Given the description of an element on the screen output the (x, y) to click on. 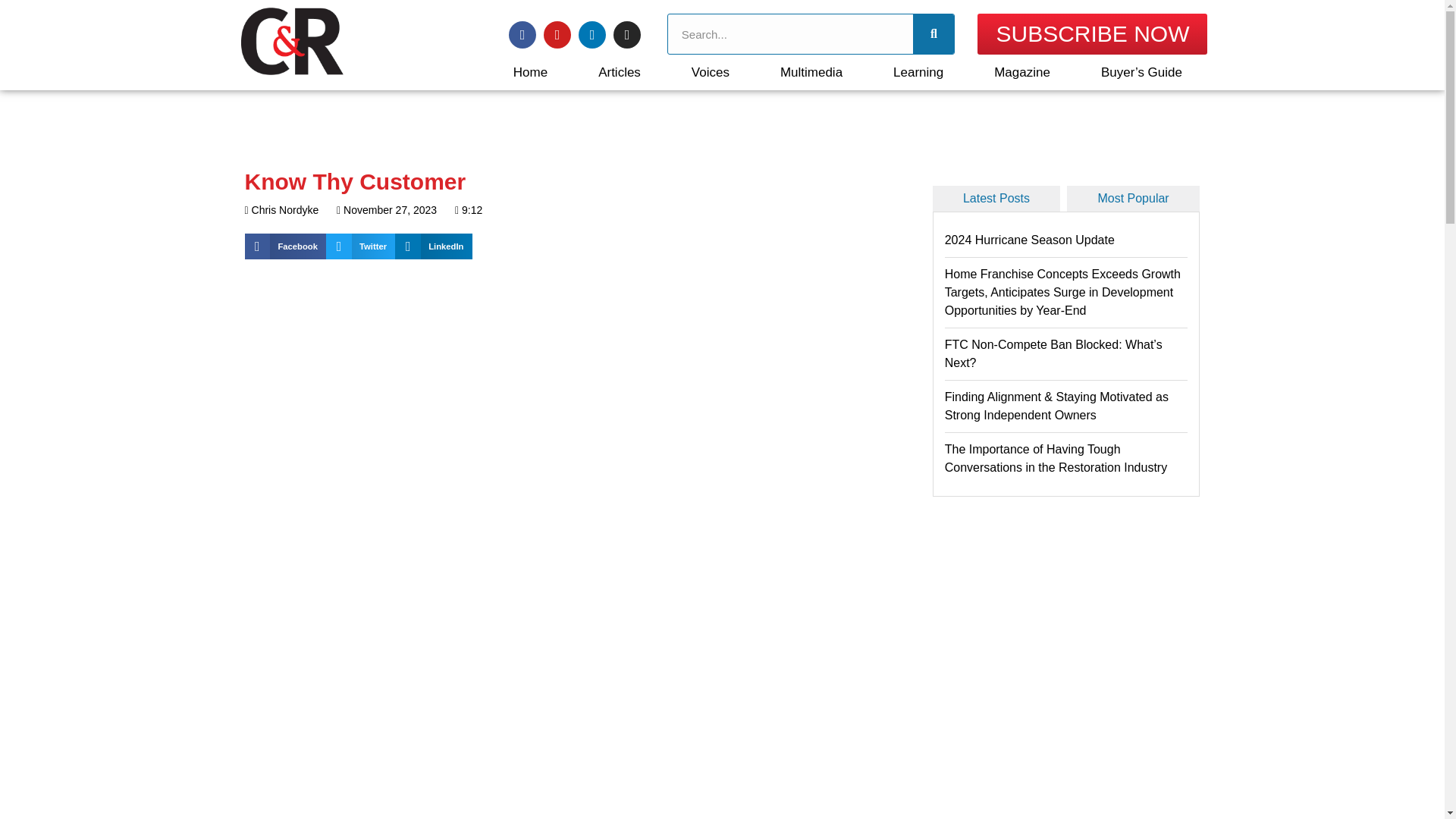
SUBSCRIBE NOW (1091, 33)
Voices (709, 72)
Home (529, 72)
Articles (619, 72)
